Given the description of an element on the screen output the (x, y) to click on. 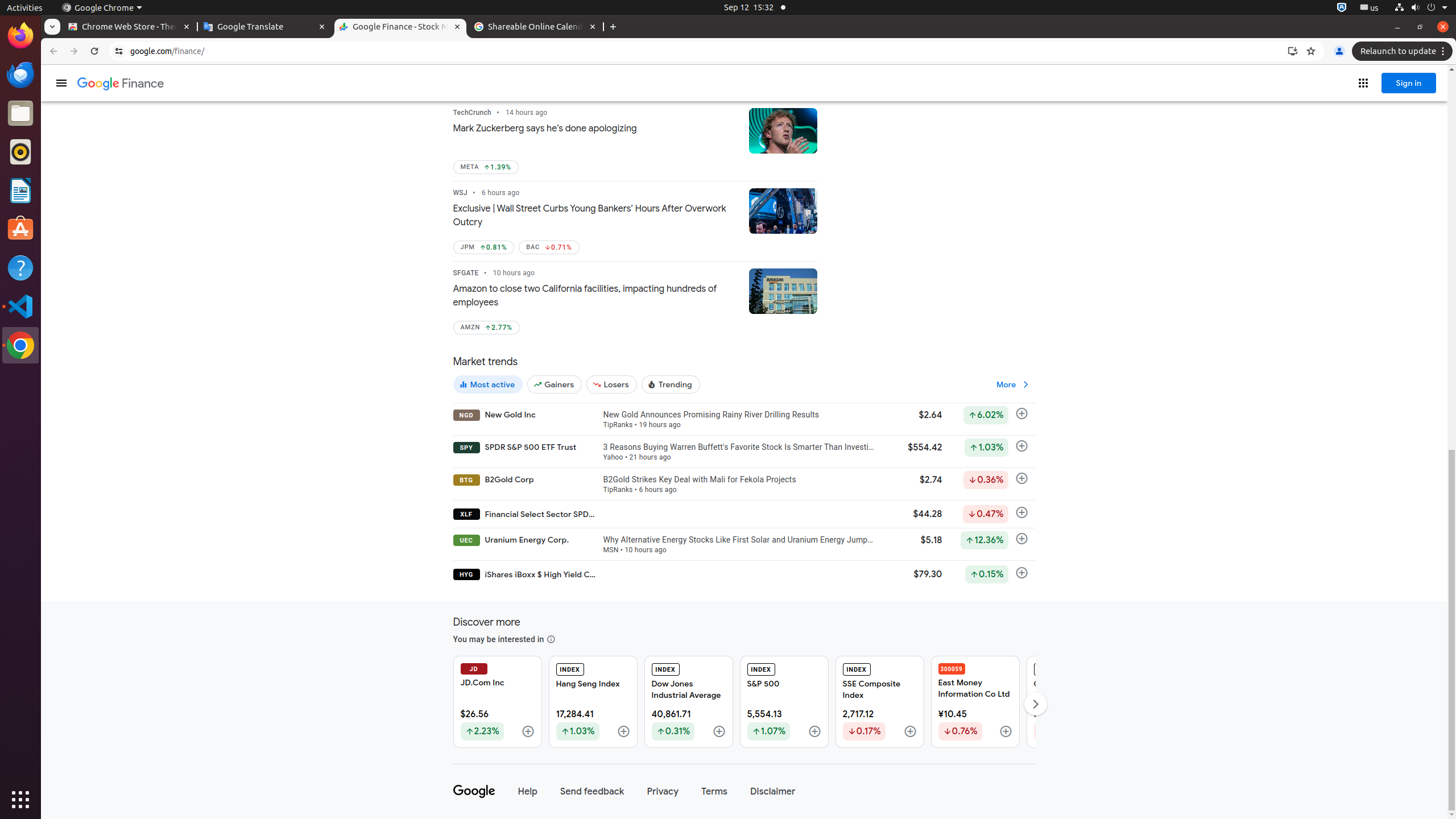
View more Element type: push-button (1013, 384)
Trending Element type: page-tab (670, 384)
Disclaimer Element type: link (772, 791)
INDEX S&P 500 5,554.13 Up by 1.07% Element type: link (783, 701)
:1.21/StatusNotifierItem Element type: menu (1369, 7)
